Given the description of an element on the screen output the (x, y) to click on. 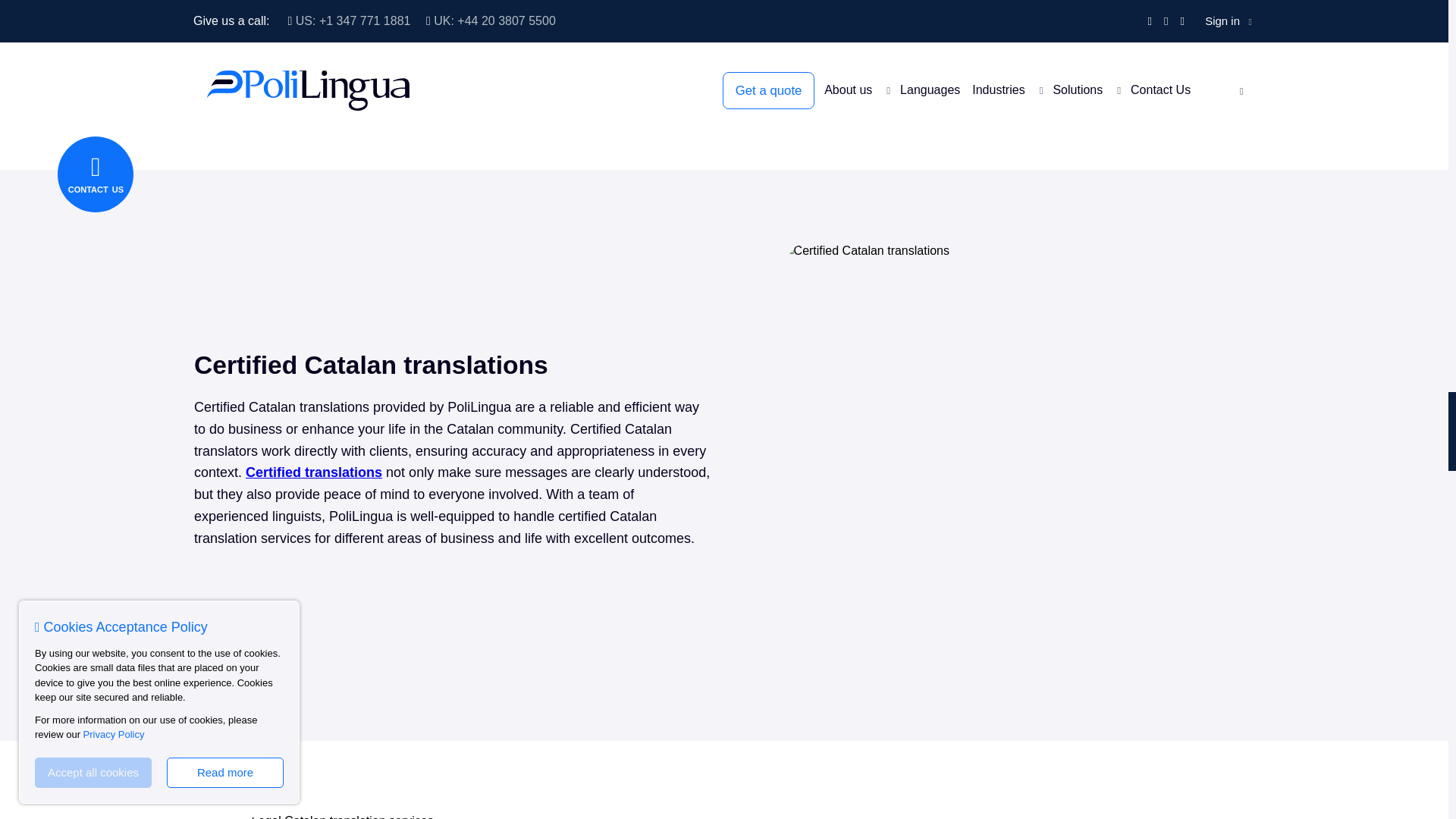
Our professional Catalan Language translators (453, 49)
Legal Catalan translation services (453, 815)
